Given the description of an element on the screen output the (x, y) to click on. 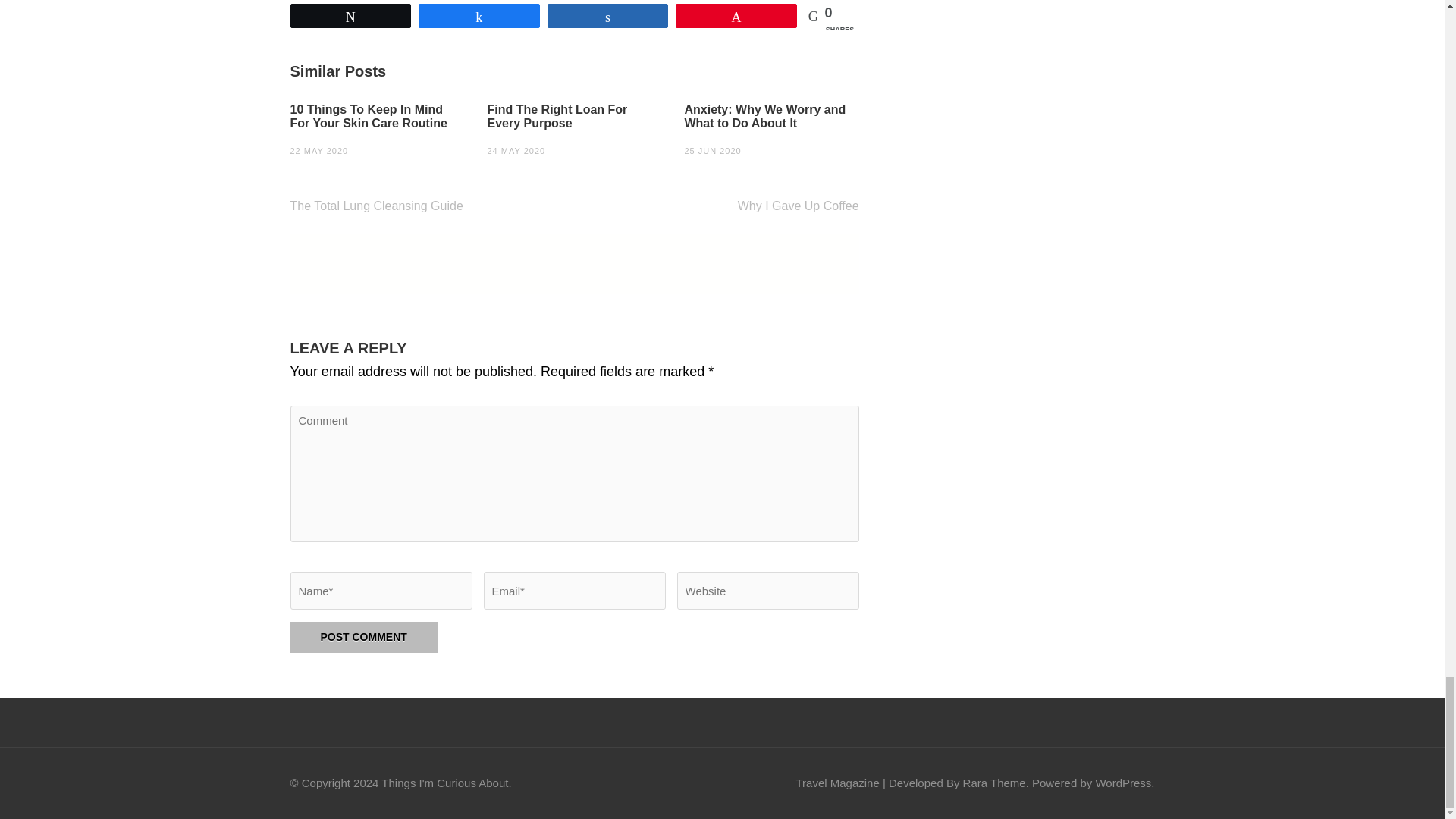
Rara Theme (994, 782)
Things I'm Curious About (444, 782)
Post Comment (362, 636)
25 JUN 2020 (712, 150)
Anxiety: Why We Worry and What to Do About It (771, 116)
Why I Gave Up Coffee (798, 205)
WordPress (1122, 782)
Post Comment (362, 636)
22 MAY 2020 (318, 150)
The Total Lung Cleansing Guide (376, 205)
10 Things To Keep In Mind For Your Skin Care Routine (376, 116)
Find The Right Loan For Every Purpose (573, 116)
24 MAY 2020 (515, 150)
